Given the description of an element on the screen output the (x, y) to click on. 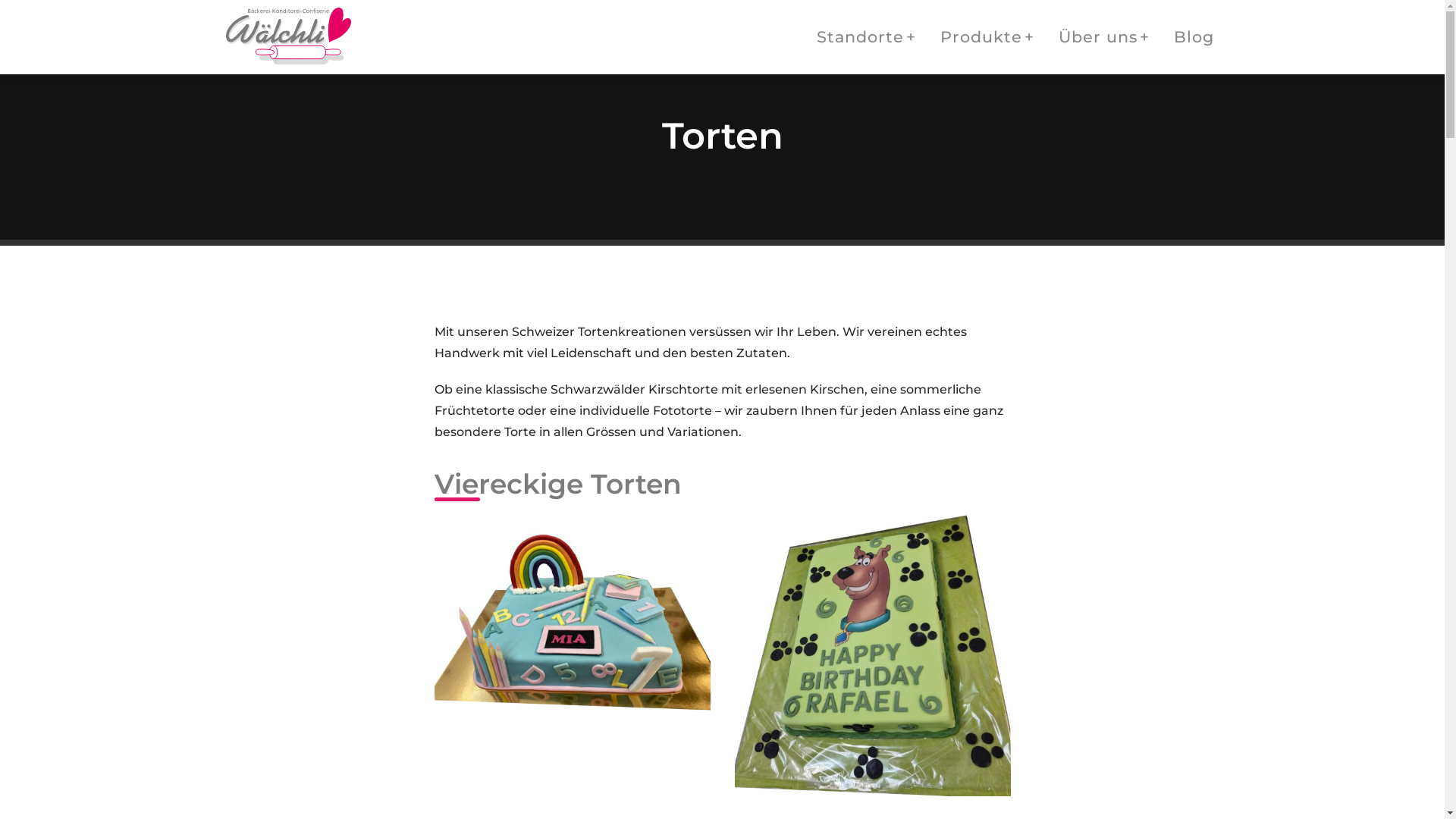
Standorte+ Element type: text (866, 37)
Produkte+ Element type: text (987, 37)
Blog Element type: text (1193, 37)
